Given the description of an element on the screen output the (x, y) to click on. 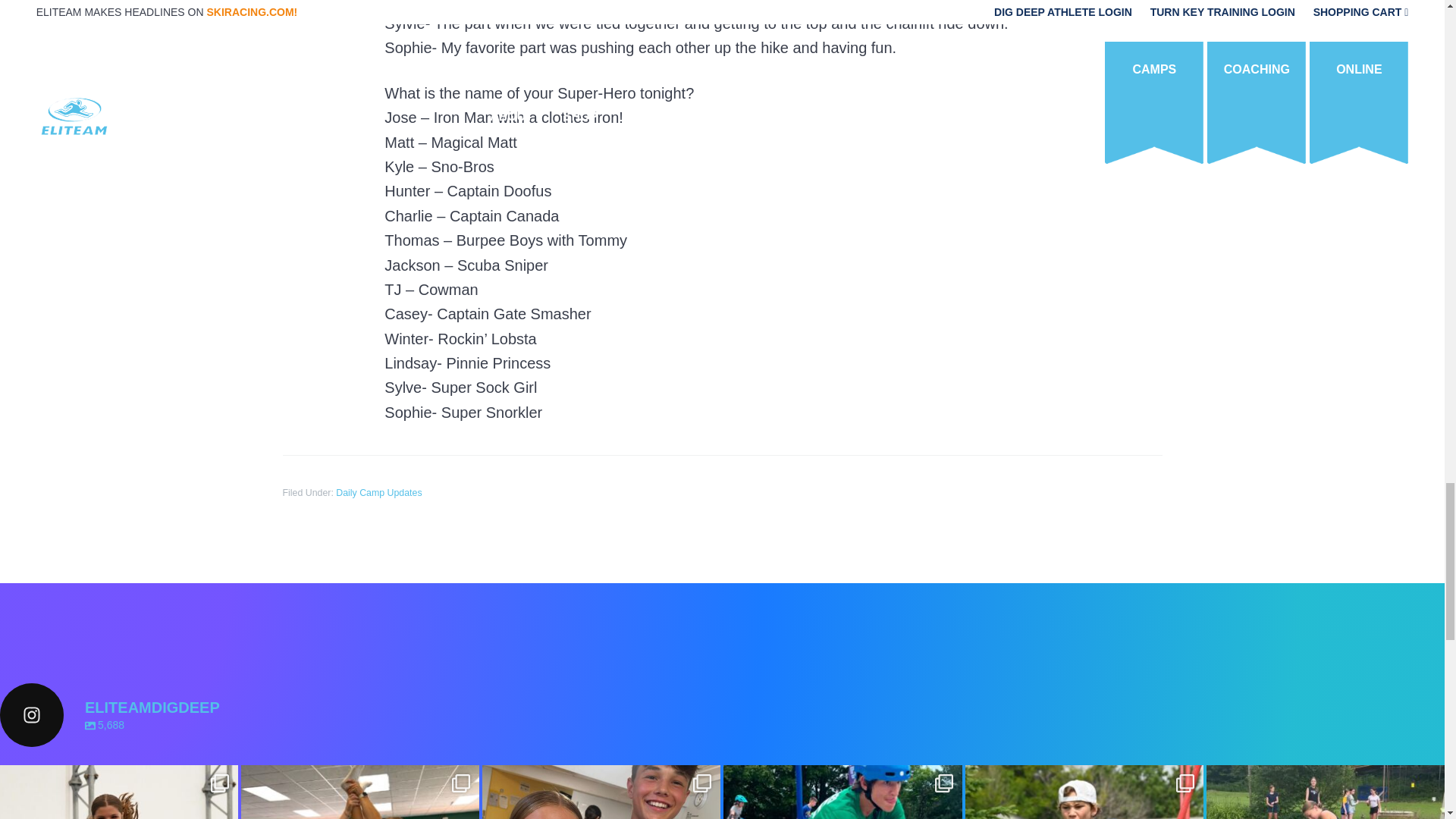
Daily Camp Updates (379, 492)
